Given the description of an element on the screen output the (x, y) to click on. 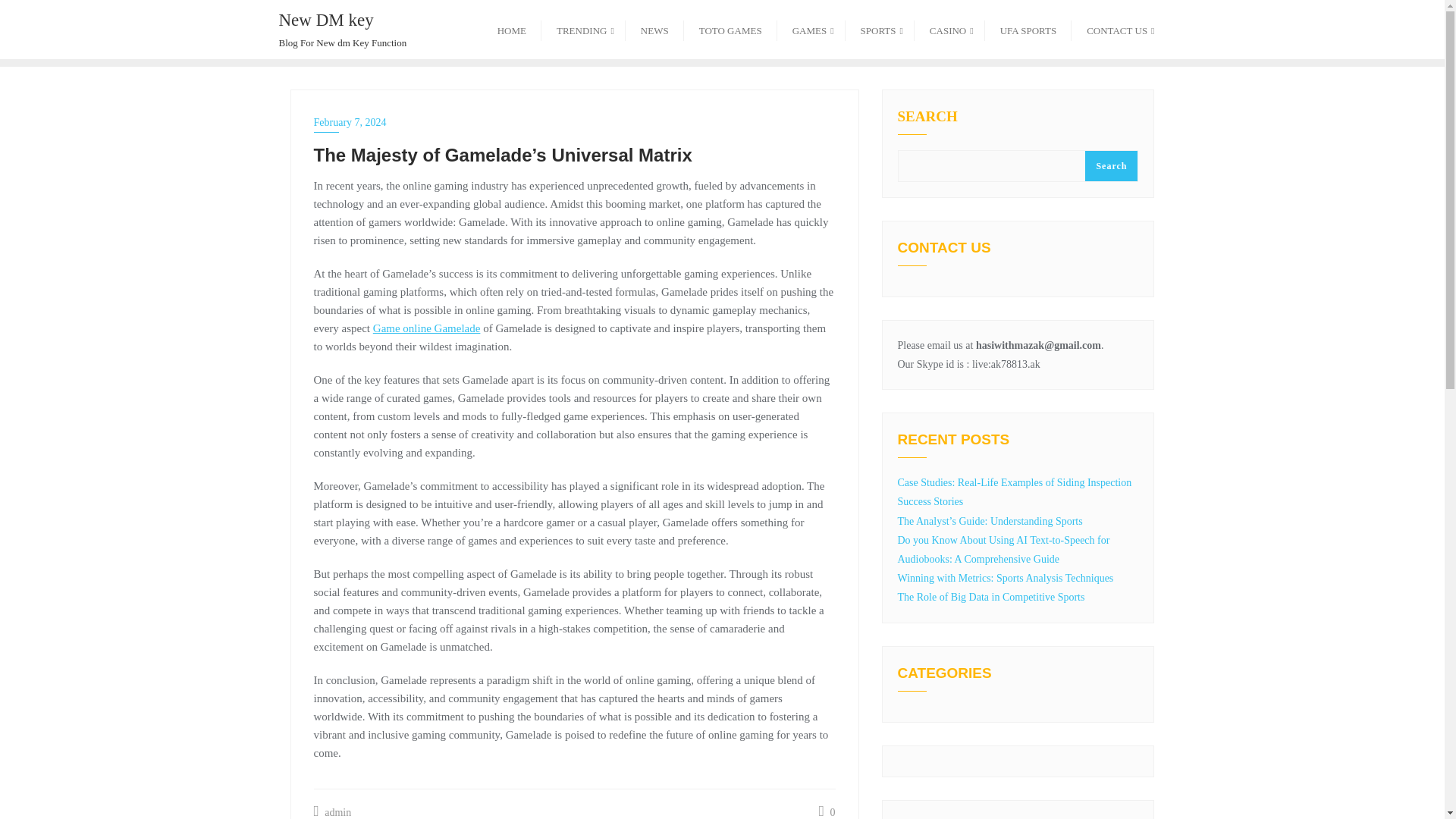
CASINO (949, 29)
TOTO GAMES (730, 29)
HOME (511, 29)
NEWS (343, 29)
CONTACT US (655, 29)
TRENDING (1118, 29)
GAMES (583, 29)
UFA SPORTS (811, 29)
SPORTS (1028, 29)
